Given the description of an element on the screen output the (x, y) to click on. 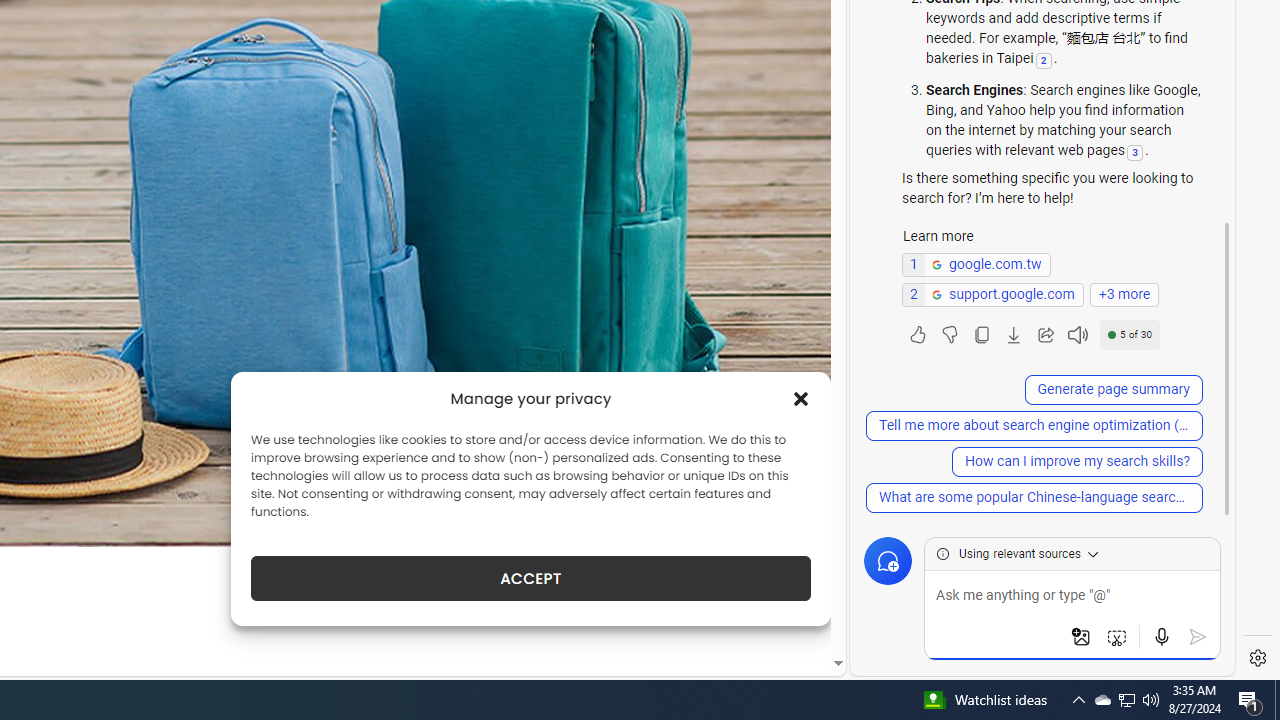
Class: cmplz-close (801, 398)
ACCEPT (530, 578)
